Given the description of an element on the screen output the (x, y) to click on. 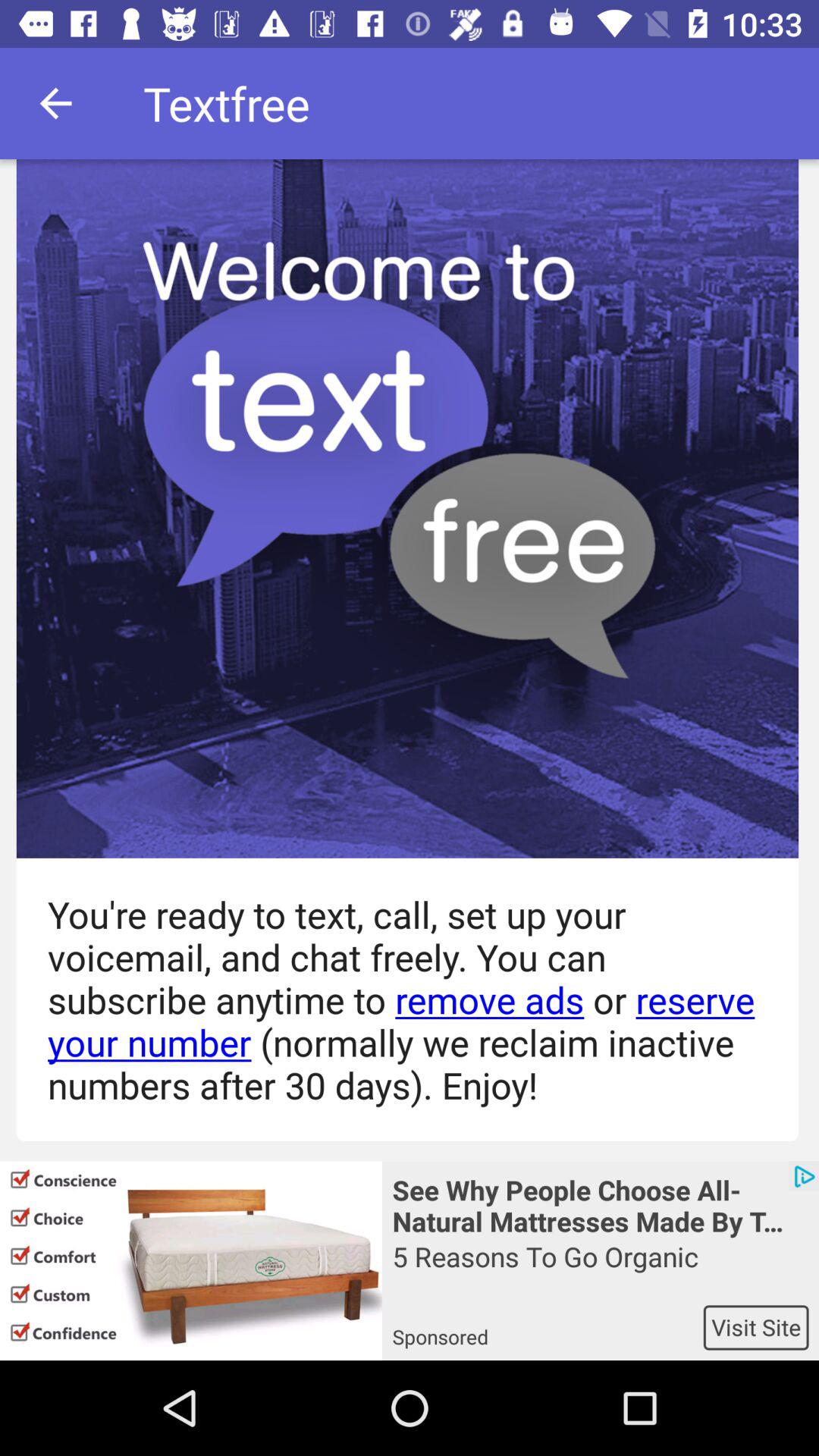
choose item below the 5 reasons to item (755, 1327)
